Given the description of an element on the screen output the (x, y) to click on. 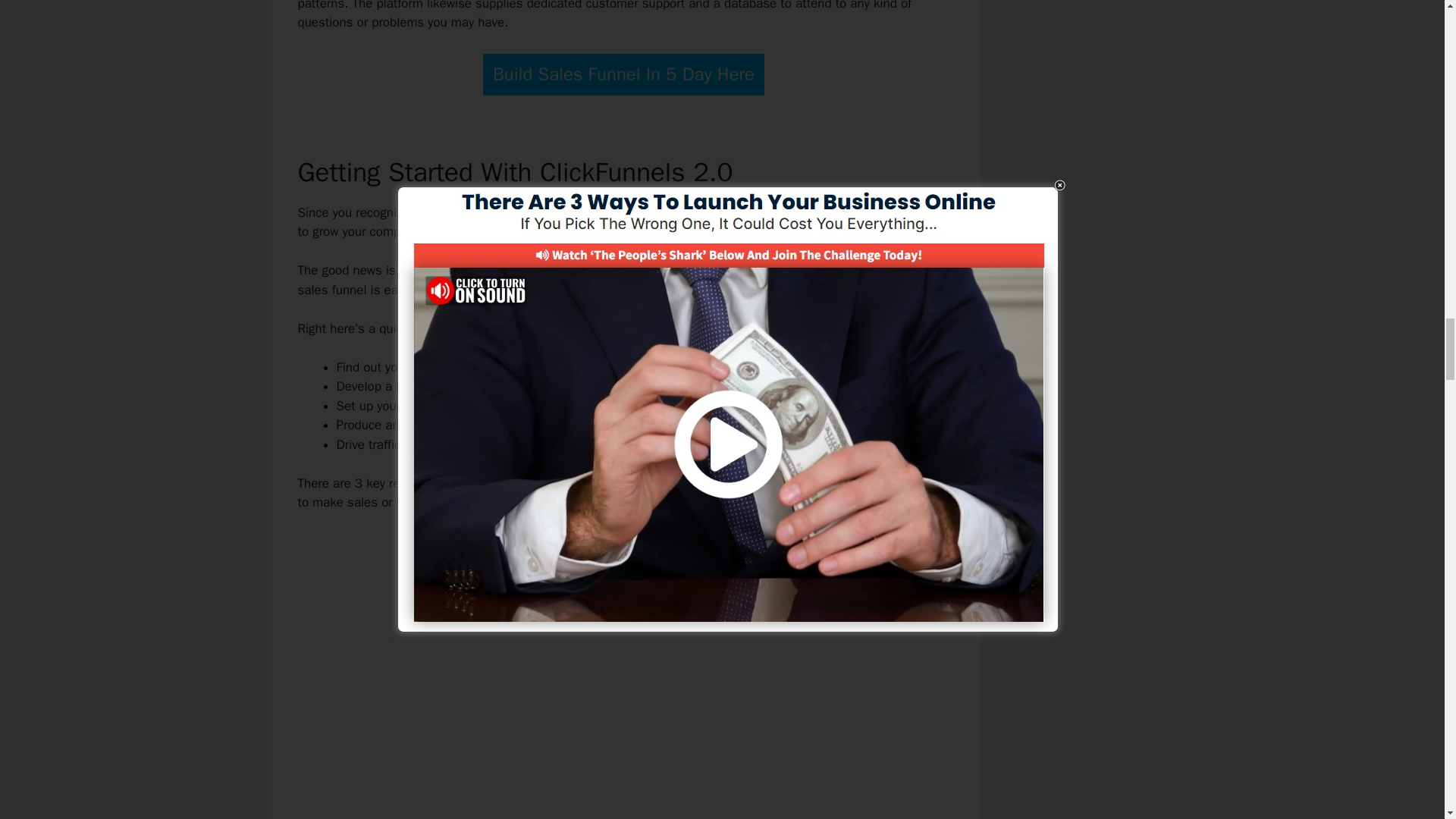
Build Sales Funnel In 5 Day Here (623, 74)
